Given the description of an element on the screen output the (x, y) to click on. 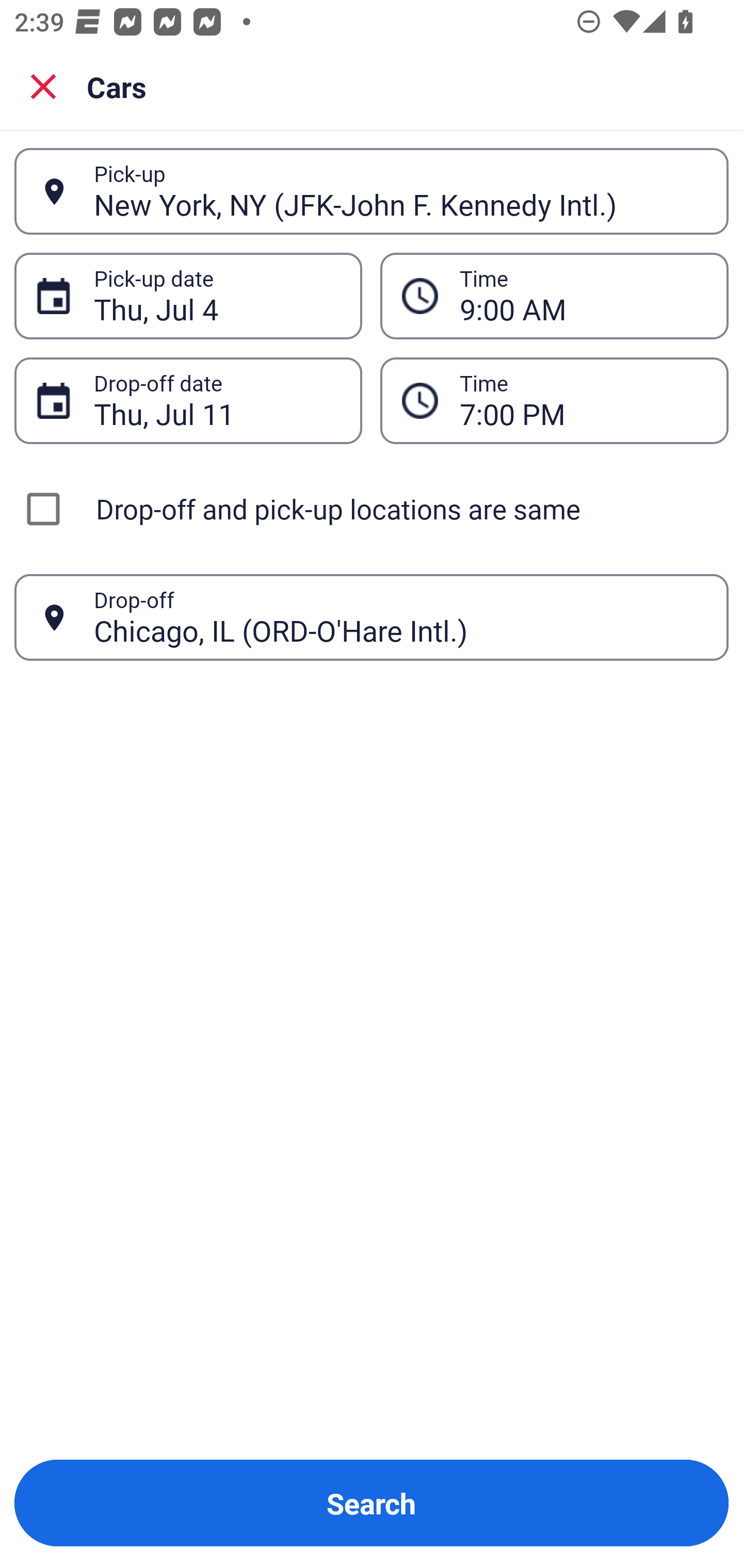
Close search screen (43, 86)
New York, NY (JFK-John F. Kennedy Intl.) Pick-up (371, 191)
New York, NY (JFK-John F. Kennedy Intl.) (399, 191)
Thu, Jul 4 Pick-up date (188, 295)
9:00 AM (554, 295)
Thu, Jul 4 (216, 296)
9:00 AM (582, 296)
Thu, Jul 11 Drop-off date (188, 400)
7:00 PM (554, 400)
Thu, Jul 11 (216, 400)
7:00 PM (582, 400)
Drop-off and pick-up locations are same (371, 508)
Chicago, IL (ORD-O'Hare Intl.) Drop-off (371, 616)
Chicago, IL (ORD-O'Hare Intl.) (399, 616)
Search Button Search (371, 1502)
